Given the description of an element on the screen output the (x, y) to click on. 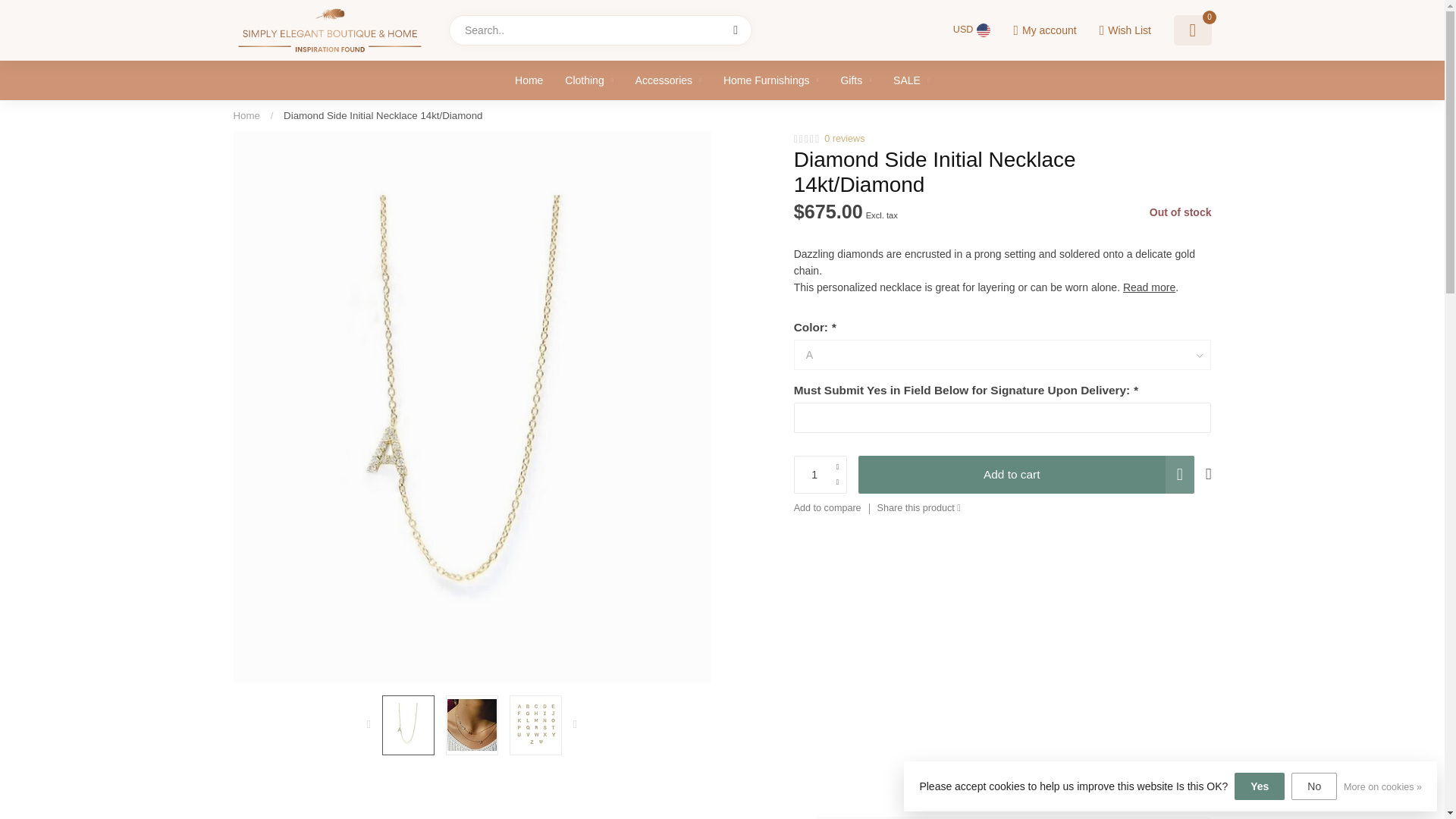
1 (1060, 218)
My account (1044, 30)
Wish List (1124, 30)
Wish List (1124, 30)
Accessories (667, 79)
0 (1192, 30)
1 (820, 474)
Home (246, 115)
Home Furnishings (770, 79)
Clothing (588, 79)
